Given the description of an element on the screen output the (x, y) to click on. 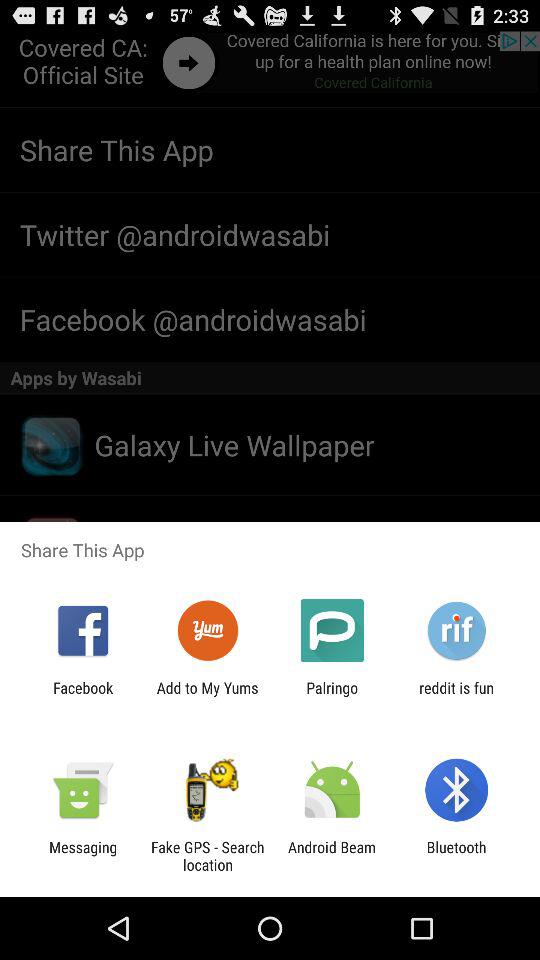
click the item next to the fake gps search icon (332, 856)
